Given the description of an element on the screen output the (x, y) to click on. 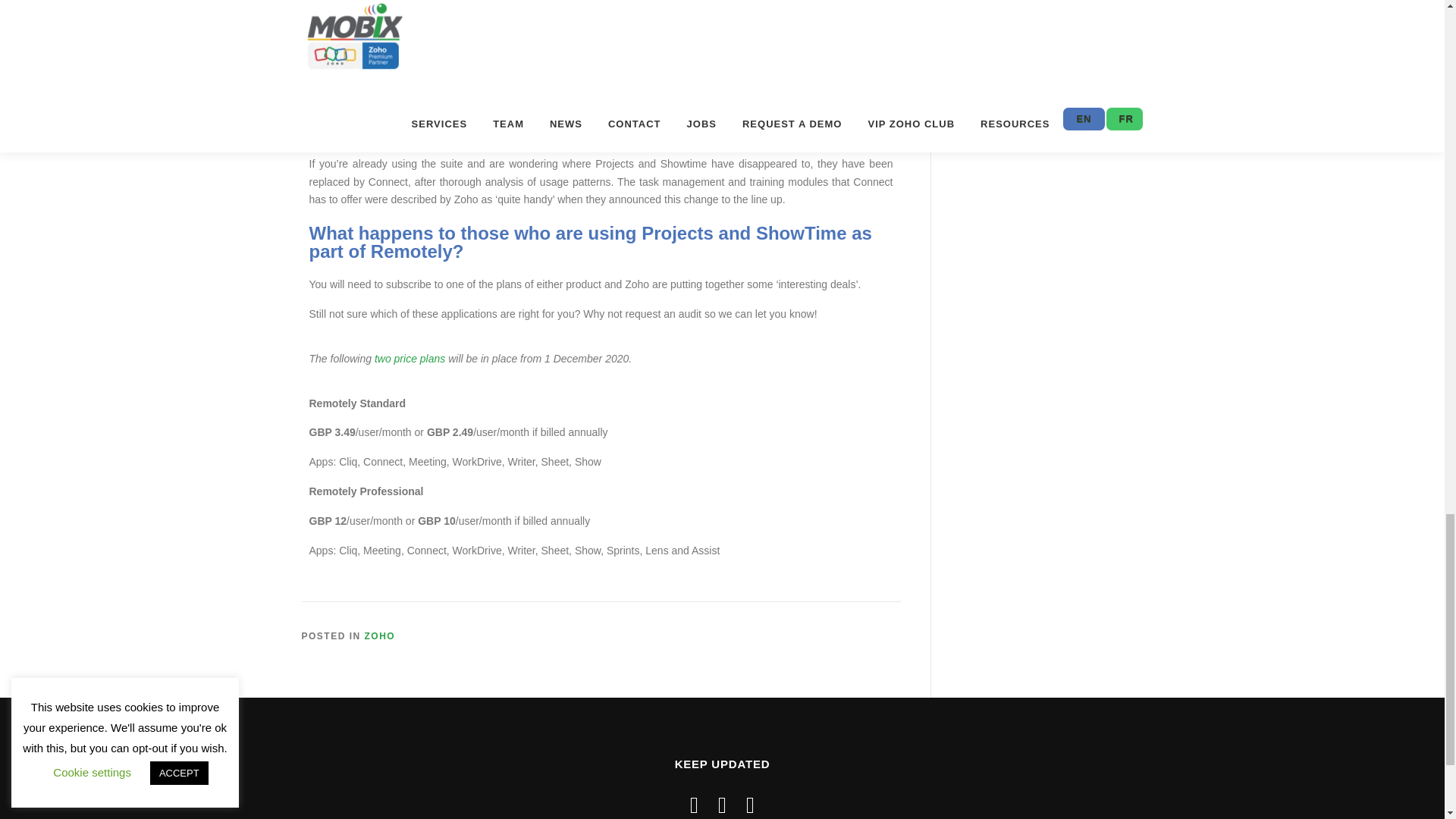
two price plans (409, 358)
ZOHO (380, 635)
ZOHO WORKDRIVE (344, 75)
